Given the description of an element on the screen output the (x, y) to click on. 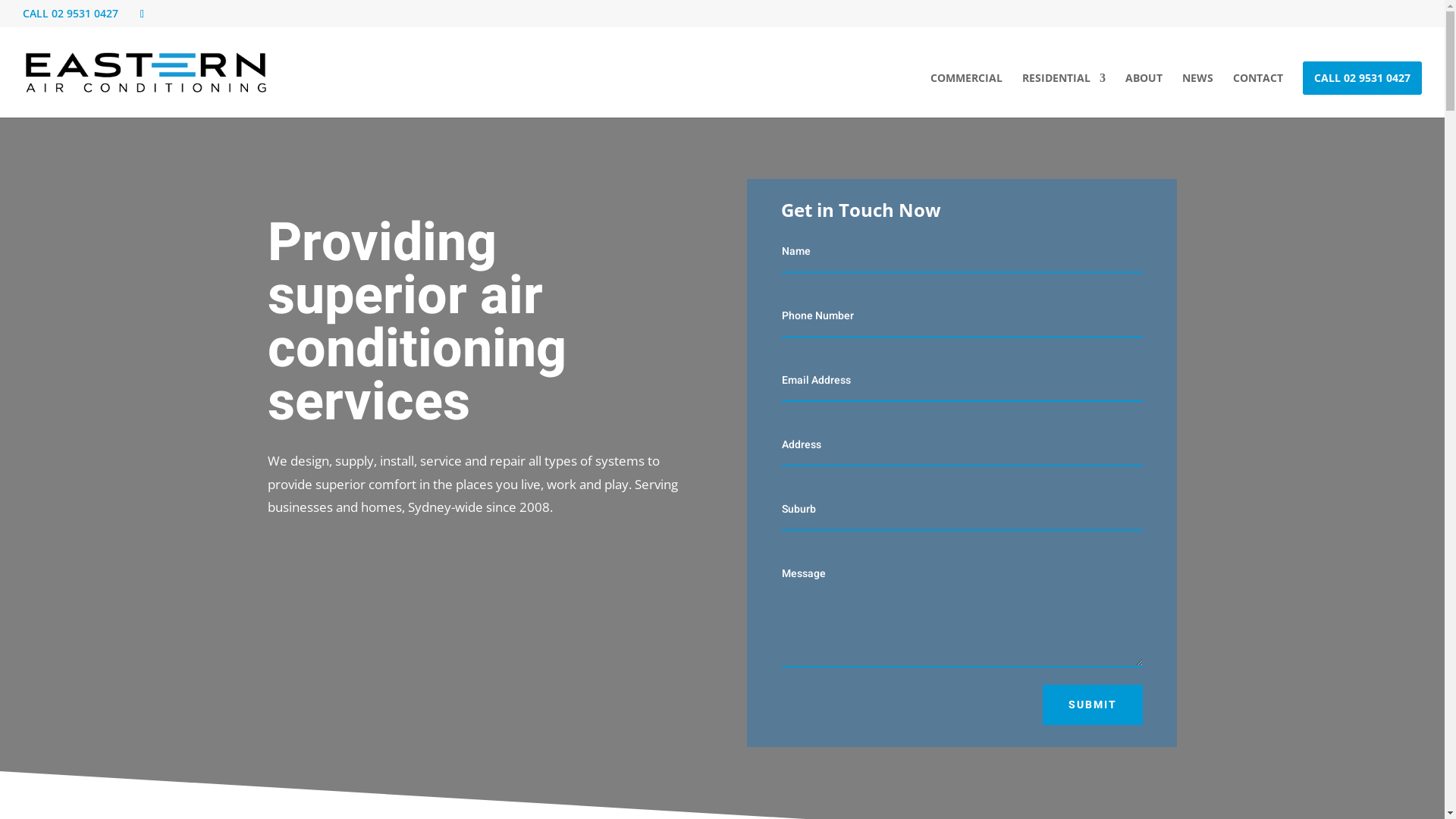
COMMERCIAL Element type: text (966, 94)
CALL 02 9531 0427 Element type: text (1361, 77)
02 9531 0427 Element type: text (84, 13)
RESIDENTIAL Element type: text (1063, 94)
SUBMIT Element type: text (1092, 704)
NEWS Element type: text (1197, 94)
ABOUT Element type: text (1143, 94)
CONTACT Element type: text (1258, 94)
